Given the description of an element on the screen output the (x, y) to click on. 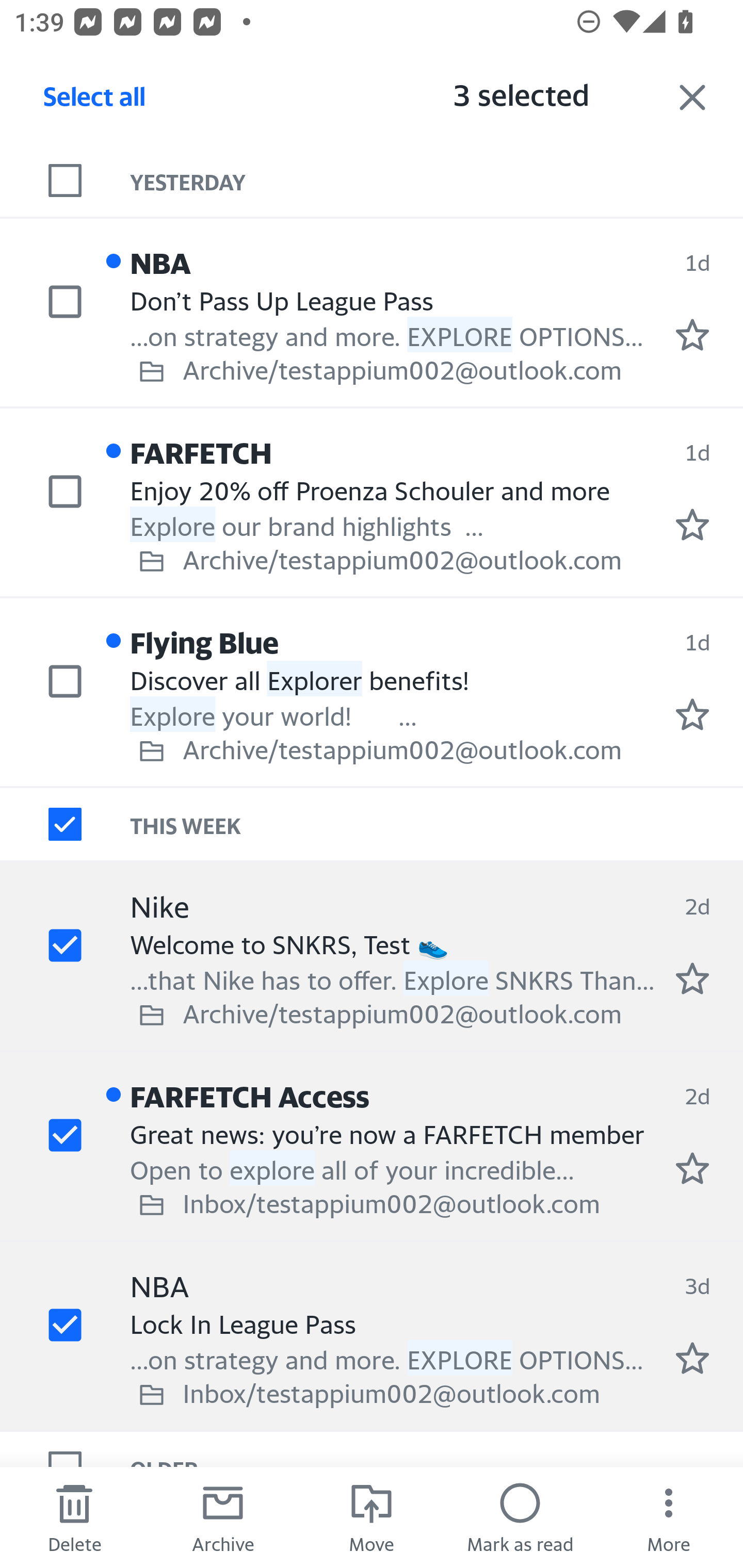
Exit selection mode (692, 97)
Select all (94, 101)
YESTERDAY (436, 180)
Mark as starred. (692, 334)
Mark as starred. (692, 524)
Mark as starred. (692, 714)
THIS WEEK (436, 823)
Mark as starred. (692, 978)
Mark as starred. (692, 1168)
Mark as starred. (692, 1358)
Delete (74, 1517)
Archive (222, 1517)
Move (371, 1517)
Mark as read (519, 1517)
More (668, 1517)
